Given the description of an element on the screen output the (x, y) to click on. 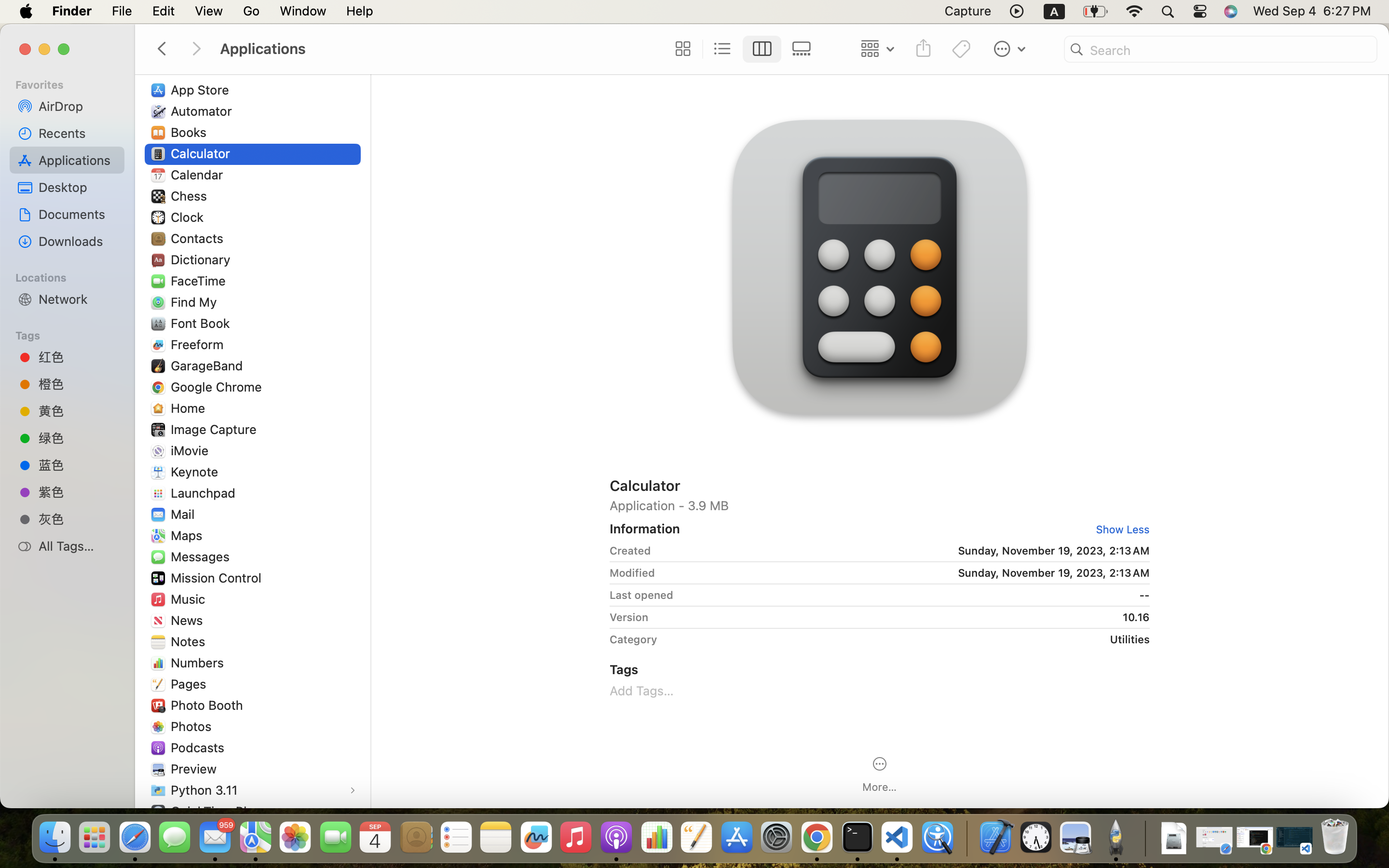
紫色 Element type: AXStaticText (77, 491)
Home Element type: AXTextField (189, 407)
0.0 Element type: AXScrollBar (427, 473)
Created Element type: AXStaticText (630, 550)
Photos Element type: AXTextField (192, 725)
